Given the description of an element on the screen output the (x, y) to click on. 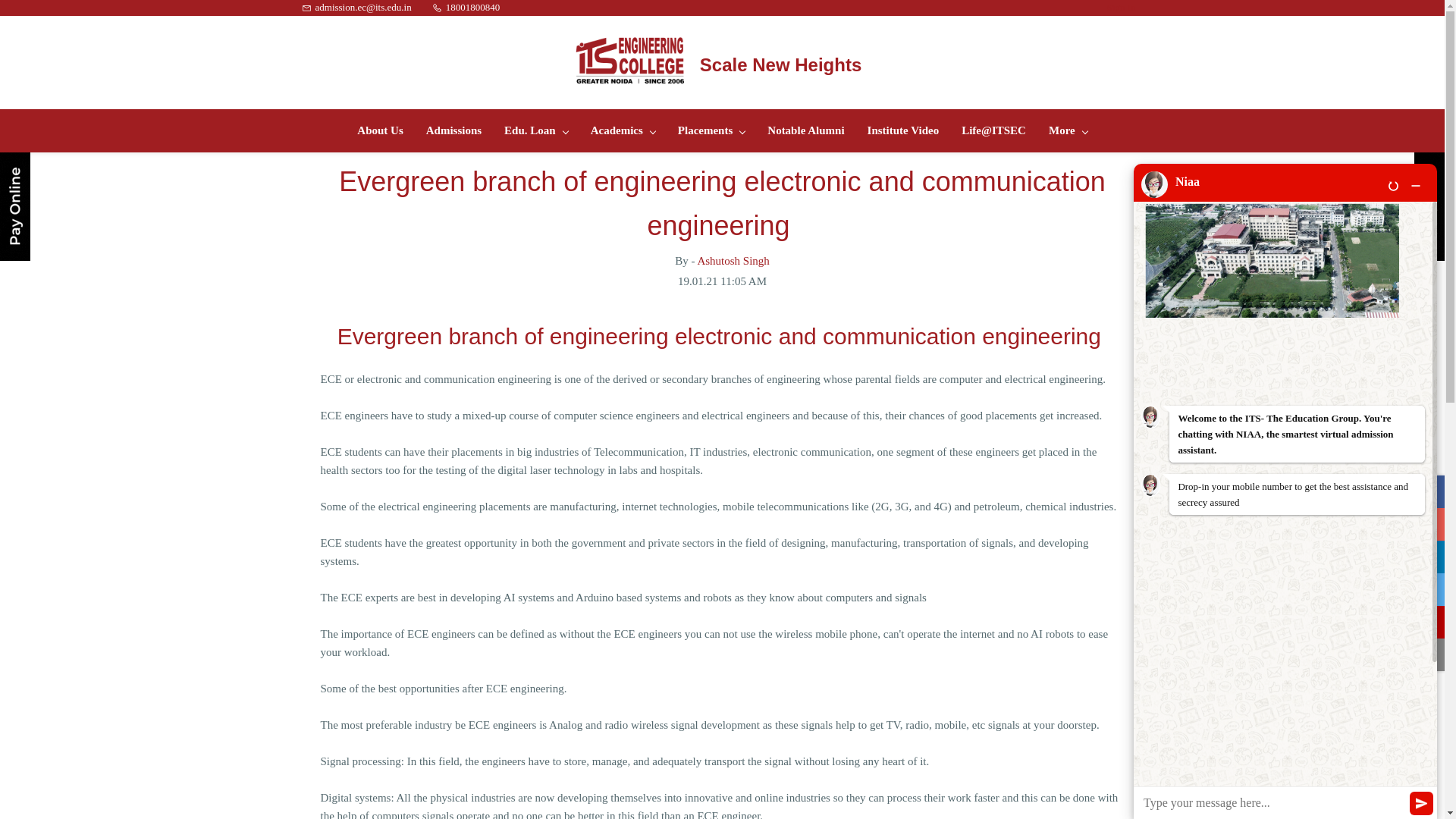
Minimize (1415, 185)
Sign In (1120, 7)
Edu. Loan (535, 130)
Admissions (453, 130)
About Us (379, 130)
Academics (623, 130)
18001800840 (466, 7)
Restart (1393, 185)
